Given the description of an element on the screen output the (x, y) to click on. 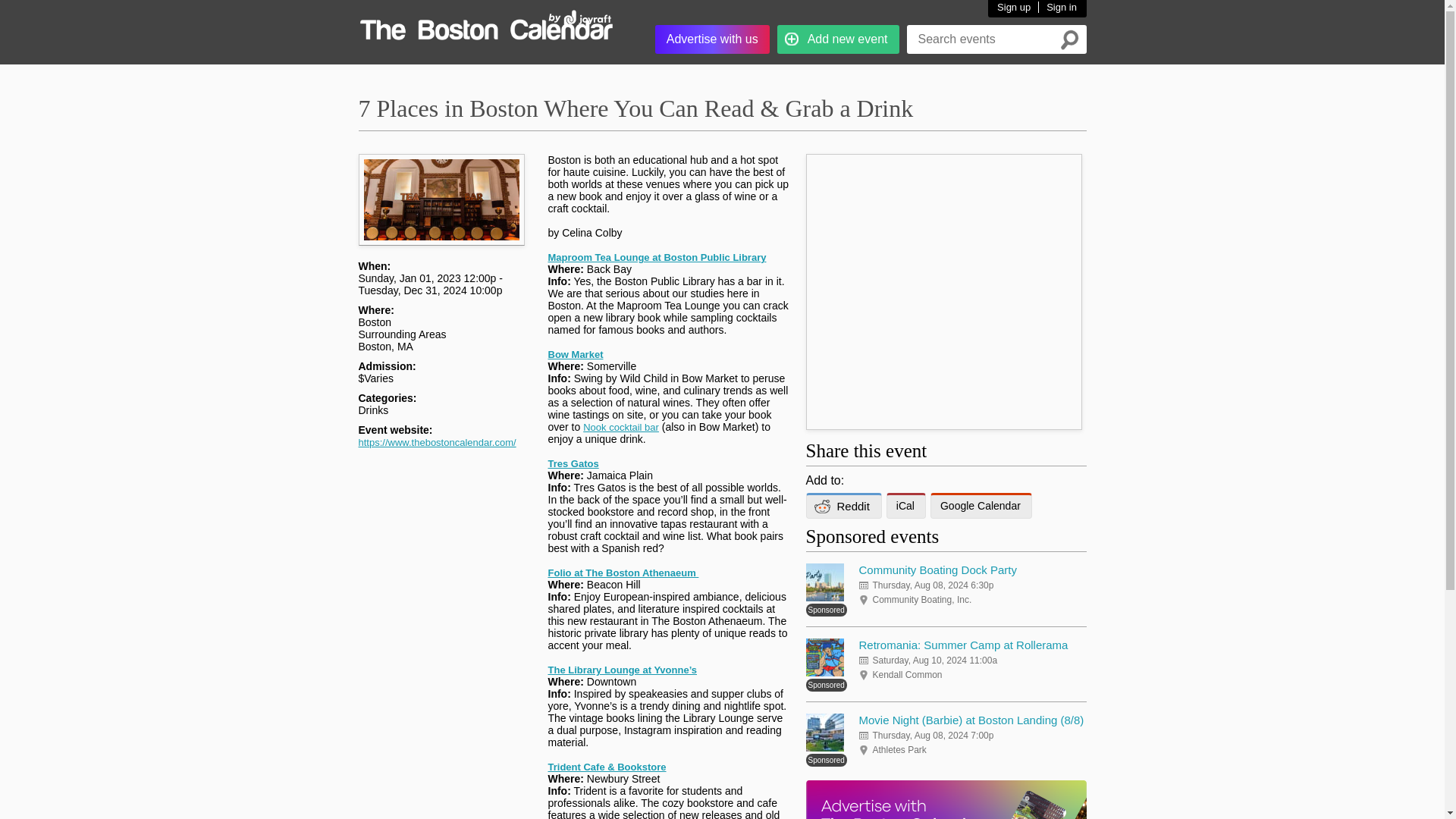
Retromania: Summer Camp at Rollerama (963, 644)
Sign in (1057, 7)
Community Boating Dock Party (937, 569)
Reddit (842, 505)
Sign up (1013, 7)
Tres Gatos (572, 463)
Add new event (838, 39)
Zoom in (436, 219)
Folio at The Boston Athenaeum  (622, 572)
Search (1069, 39)
